Given the description of an element on the screen output the (x, y) to click on. 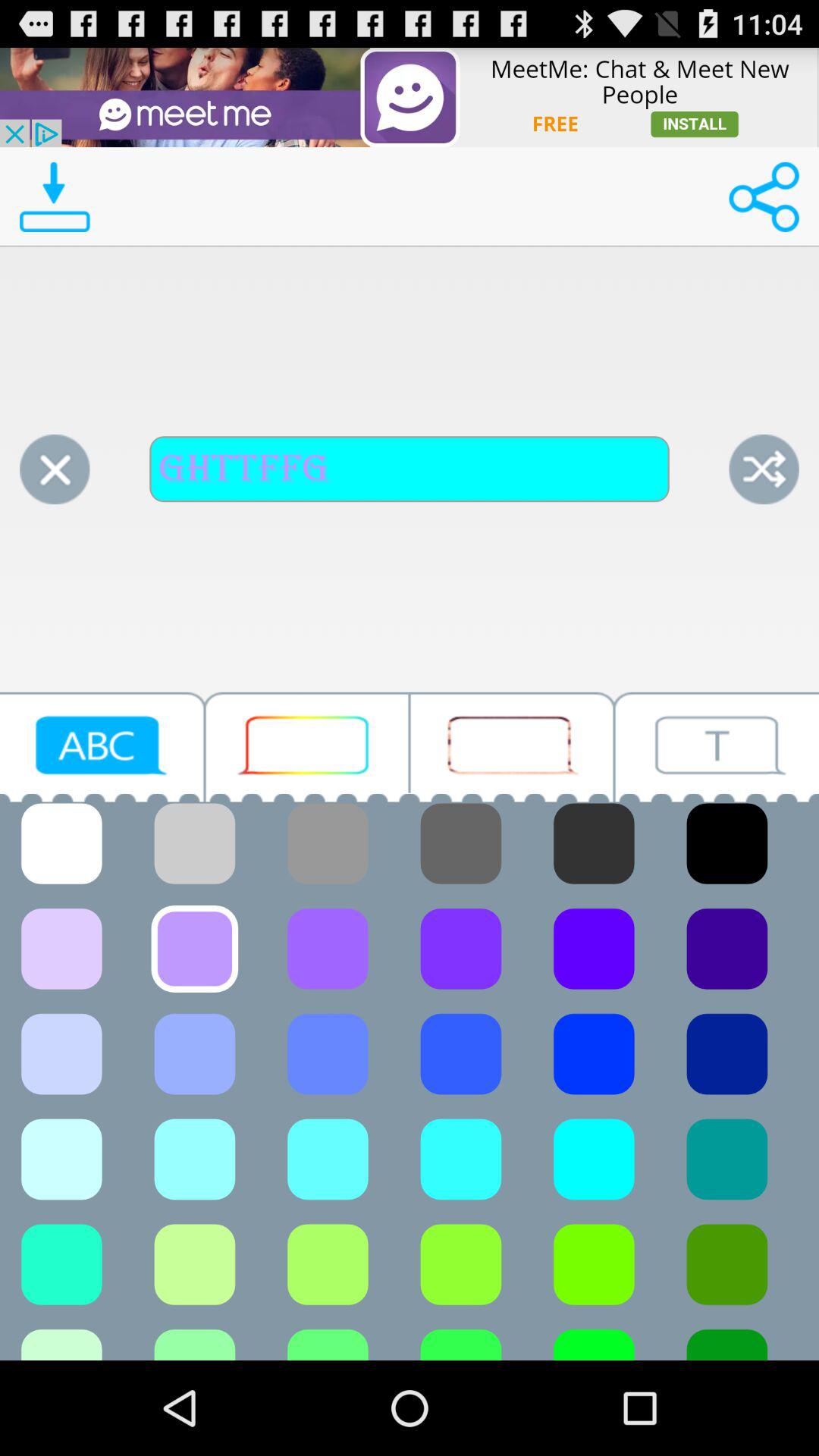
open advertisement (409, 97)
